Given the description of an element on the screen output the (x, y) to click on. 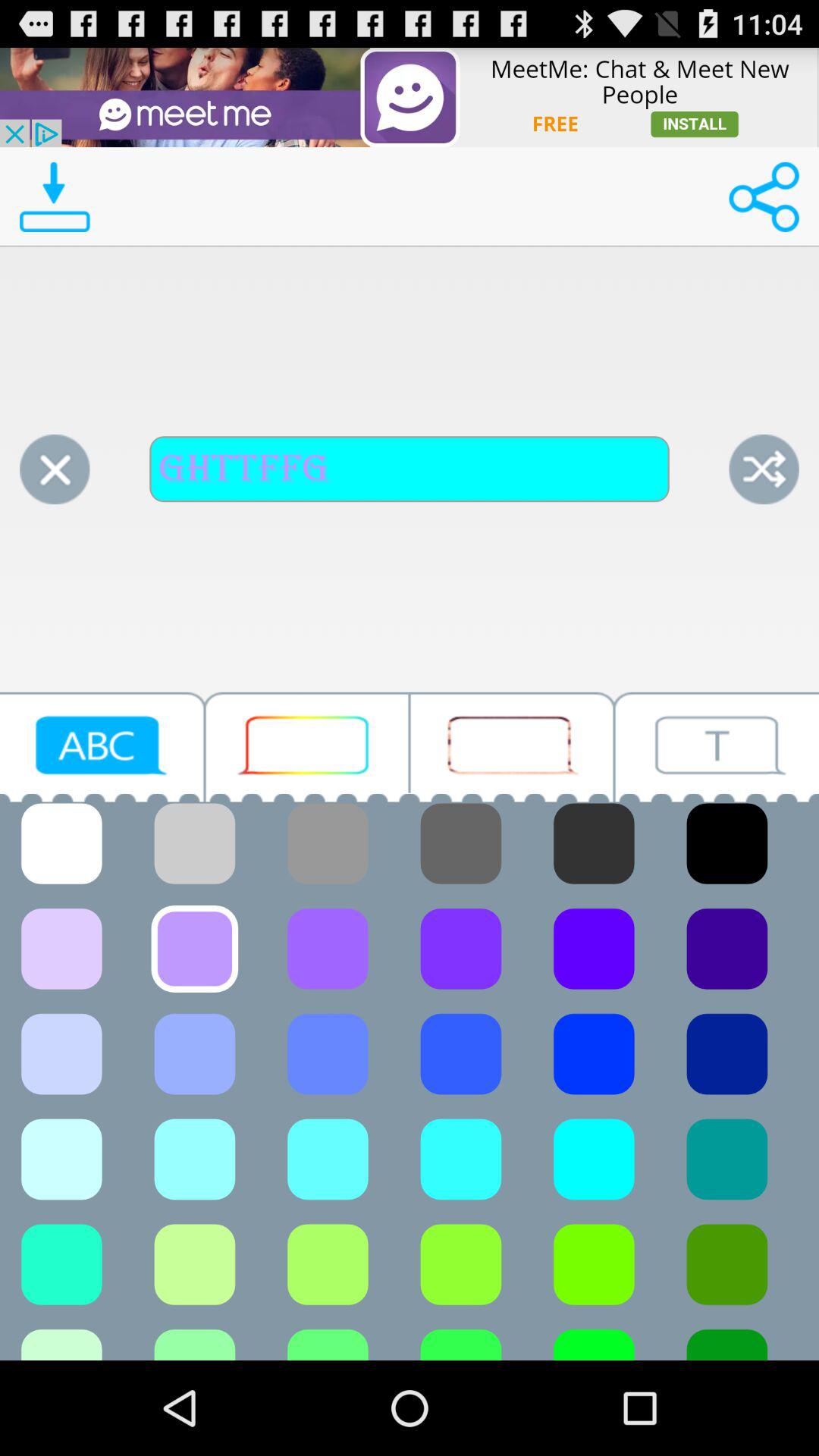
open advertisement (409, 97)
